Given the description of an element on the screen output the (x, y) to click on. 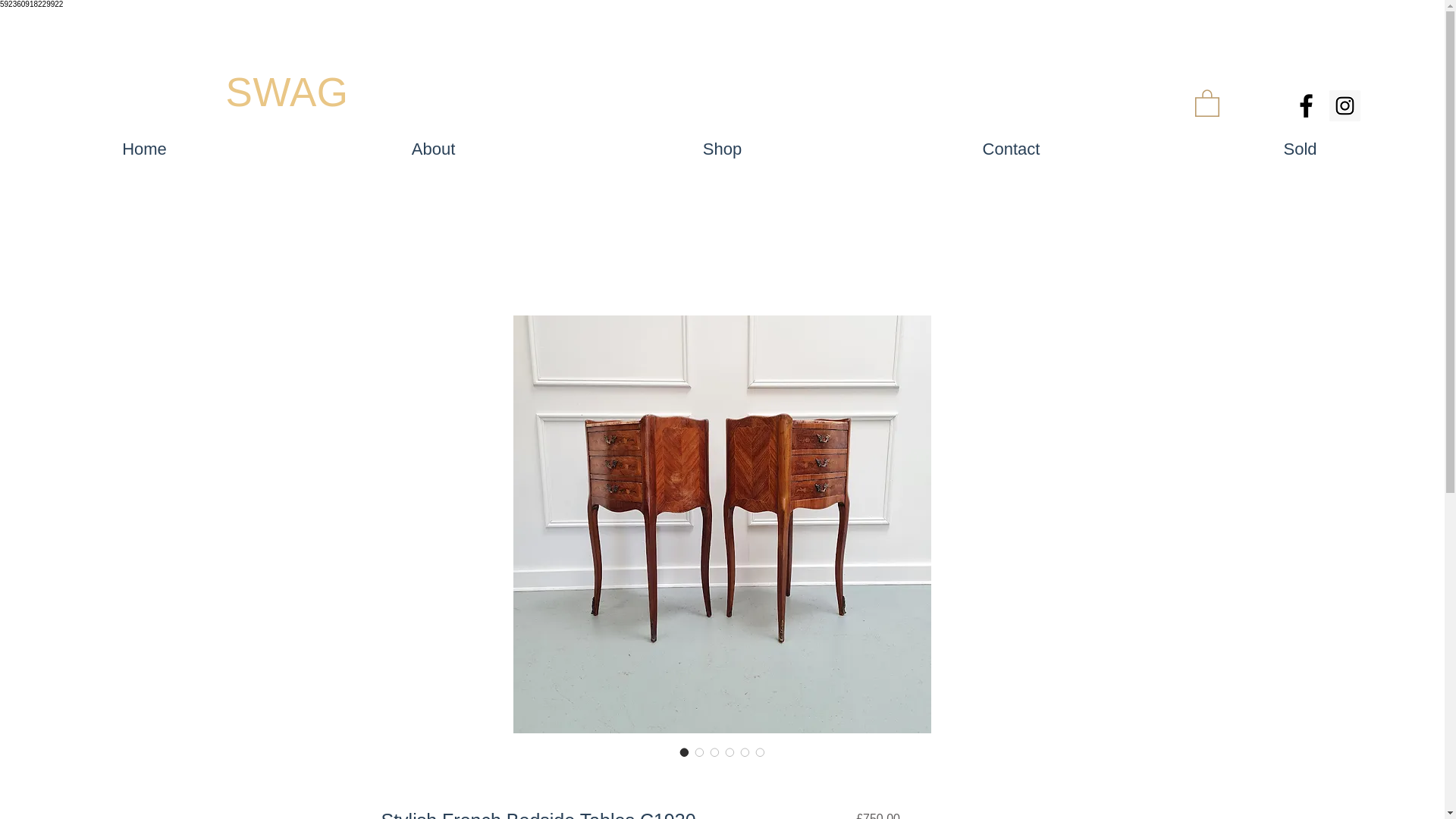
Home (144, 148)
SWAG (287, 91)
Contact (1011, 148)
About (433, 148)
